Given the description of an element on the screen output the (x, y) to click on. 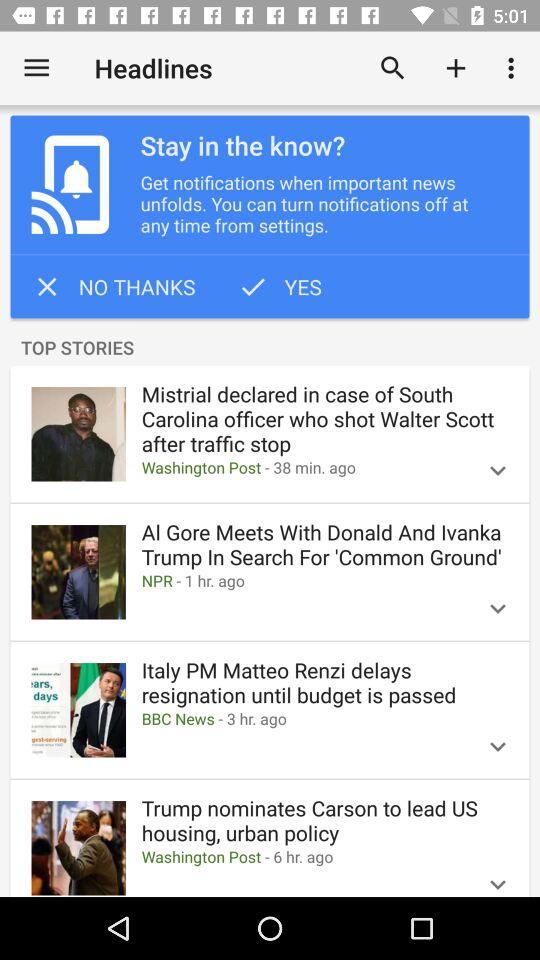
choose the item above top stories item (279, 286)
